Given the description of an element on the screen output the (x, y) to click on. 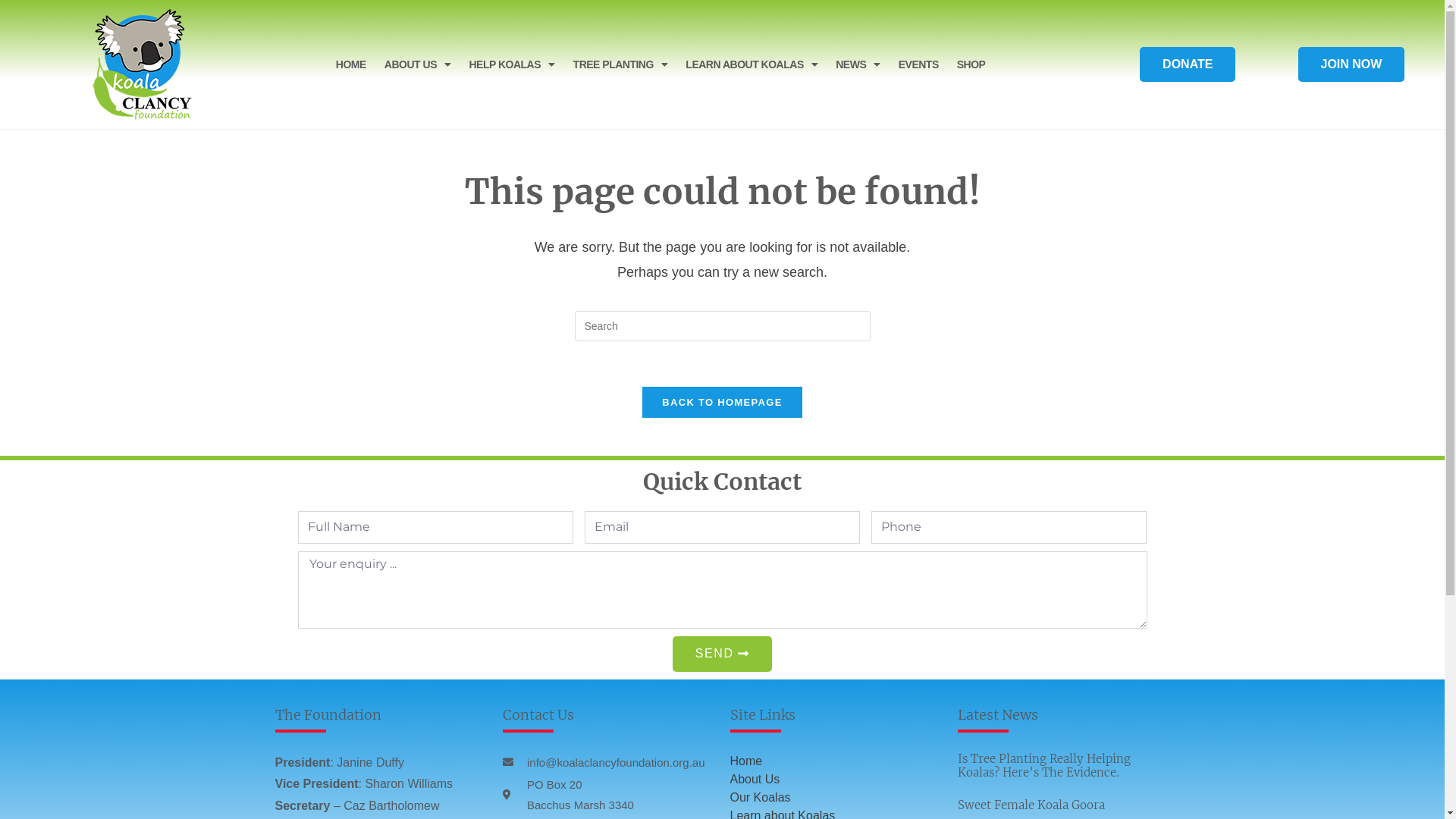
ABOUT US Element type: text (417, 64)
SHOP Element type: text (970, 64)
Our Koalas Element type: text (759, 796)
SEND Element type: text (721, 653)
NEWS Element type: text (857, 64)
DONATE Element type: text (1187, 64)
LEARN ABOUT KOALAS Element type: text (751, 64)
BACK TO HOMEPAGE Element type: text (721, 401)
About Us Element type: text (754, 778)
HELP KOALAS Element type: text (511, 64)
EVENTS Element type: text (918, 64)
Sweet Female Koala Goora Element type: text (1030, 804)
TREE PLANTING Element type: text (620, 64)
info@koalaclancyfoundation.org.au Element type: text (608, 762)
JOIN NOW Element type: text (1351, 64)
HOME Element type: text (350, 64)
Home Element type: text (745, 760)
